Given the description of an element on the screen output the (x, y) to click on. 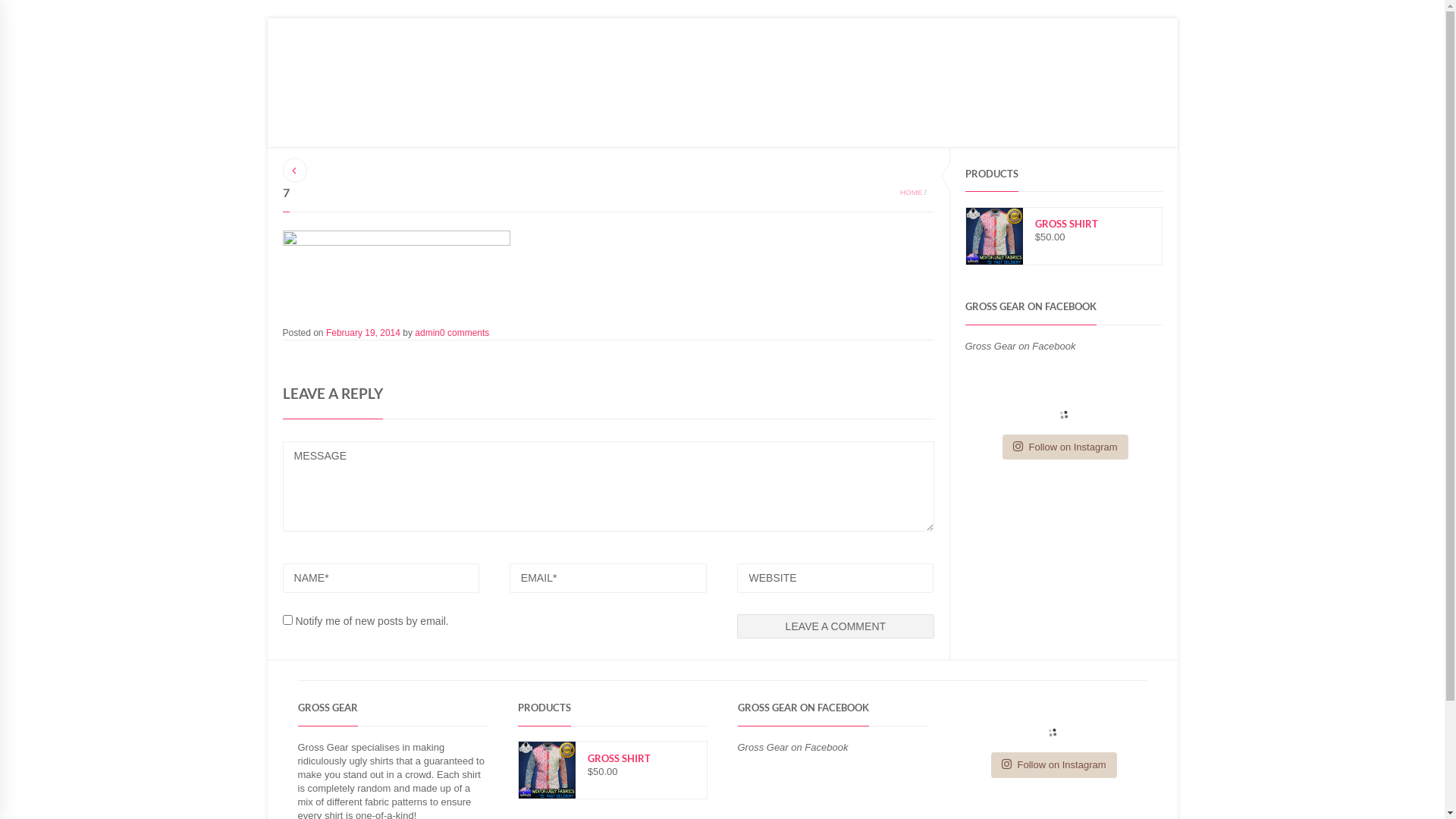
GROSS GEAR ON FACEBOOK Element type: text (1029, 306)
Gross Gear on Facebook Element type: text (1019, 345)
admin Element type: text (426, 332)
Leave a Comment Element type: text (835, 626)
Gross Gear on Facebook Element type: text (792, 747)
February 19, 2014 Element type: text (363, 332)
Follow on Instagram Element type: text (1053, 765)
HOME Element type: text (911, 192)
0 comments Element type: text (464, 332)
GROSS SHIRT Element type: text (612, 753)
Follow on Instagram Element type: text (1064, 447)
GROSS SHIRT Element type: text (1063, 219)
GROSS GEAR ON FACEBOOK Element type: text (802, 707)
